Given the description of an element on the screen output the (x, y) to click on. 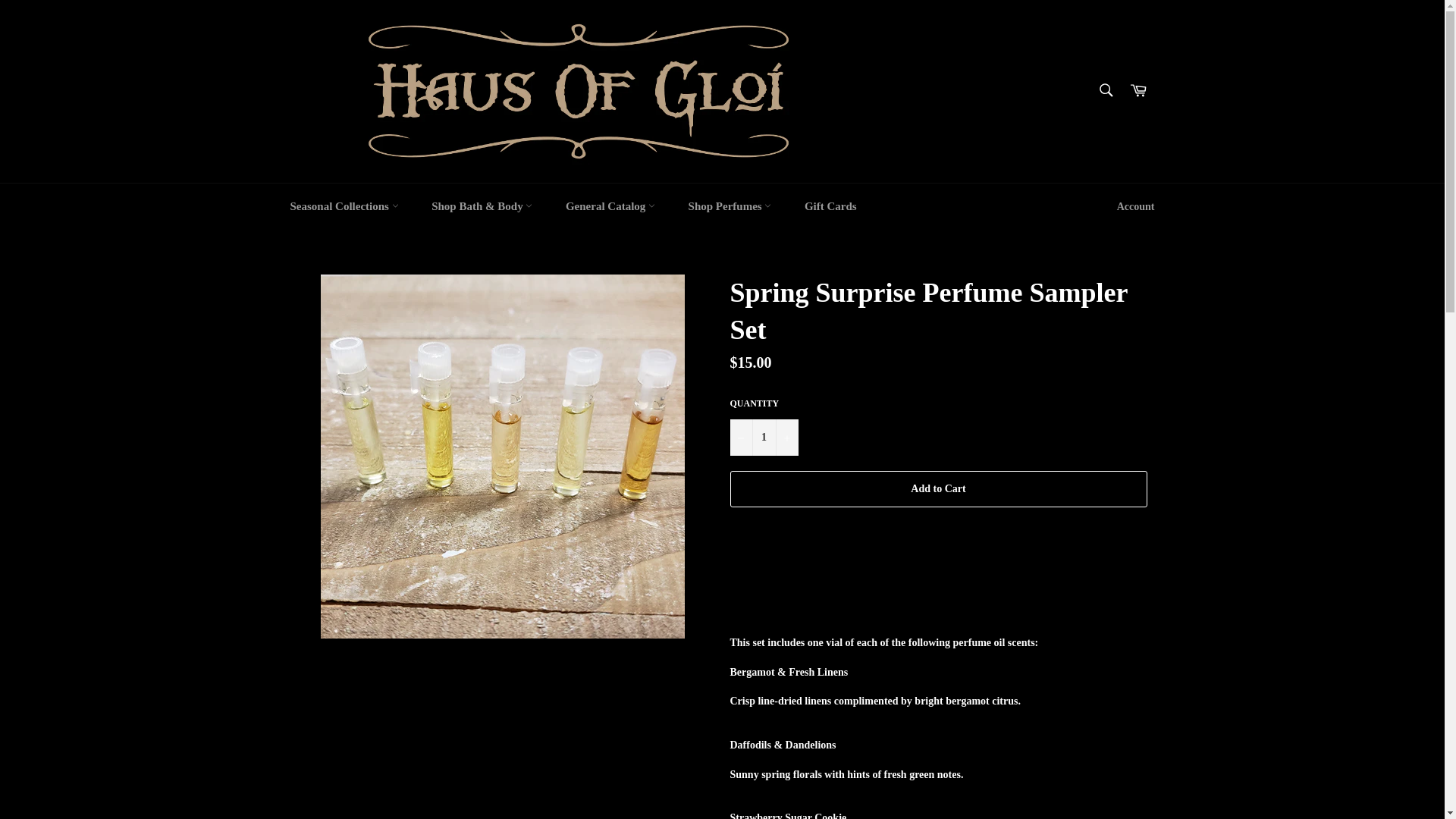
1 (763, 437)
